Given the description of an element on the screen output the (x, y) to click on. 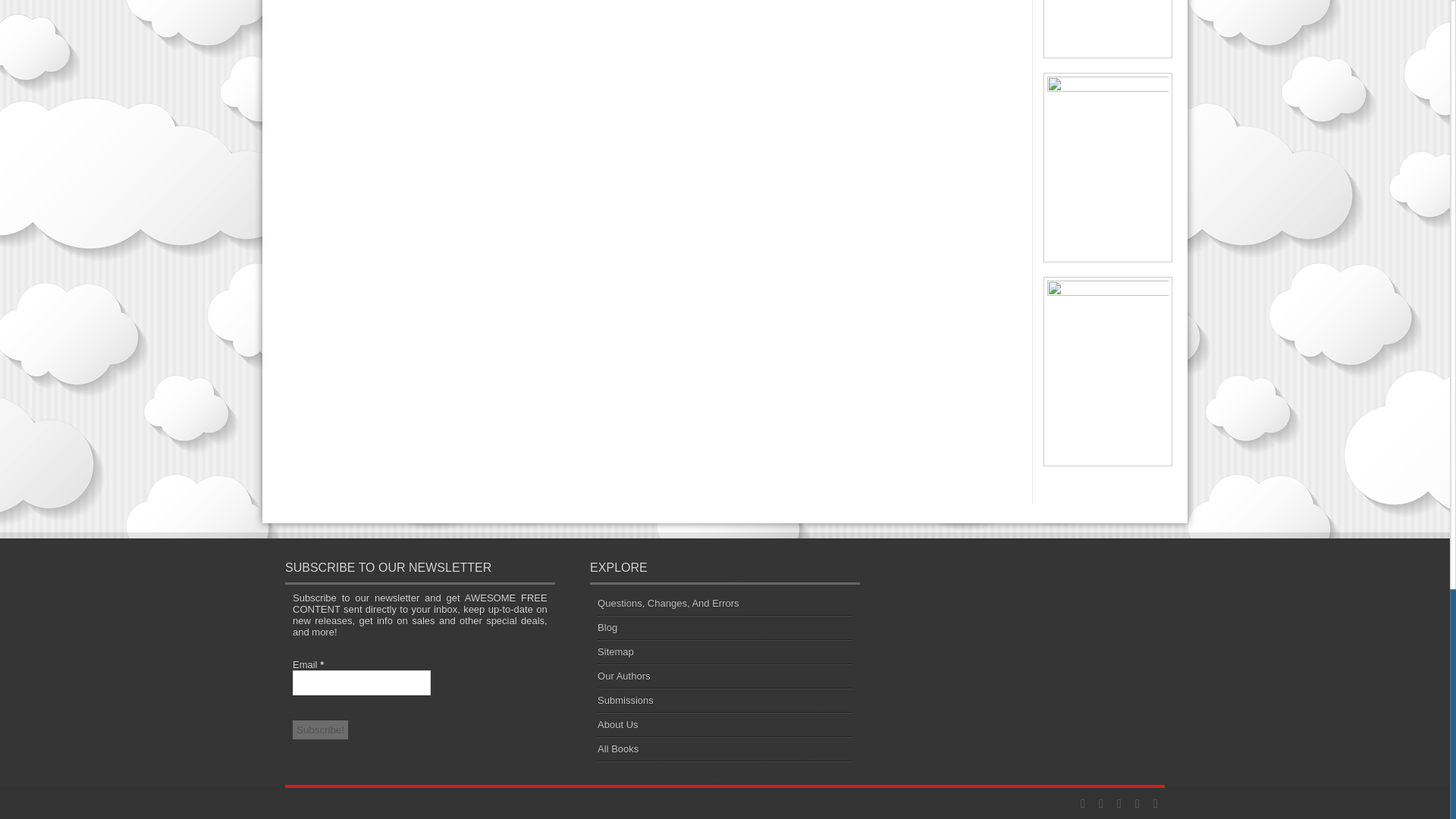
Subscribe! (319, 729)
Facebook (1119, 803)
Email (361, 682)
Rss (1082, 803)
